Given the description of an element on the screen output the (x, y) to click on. 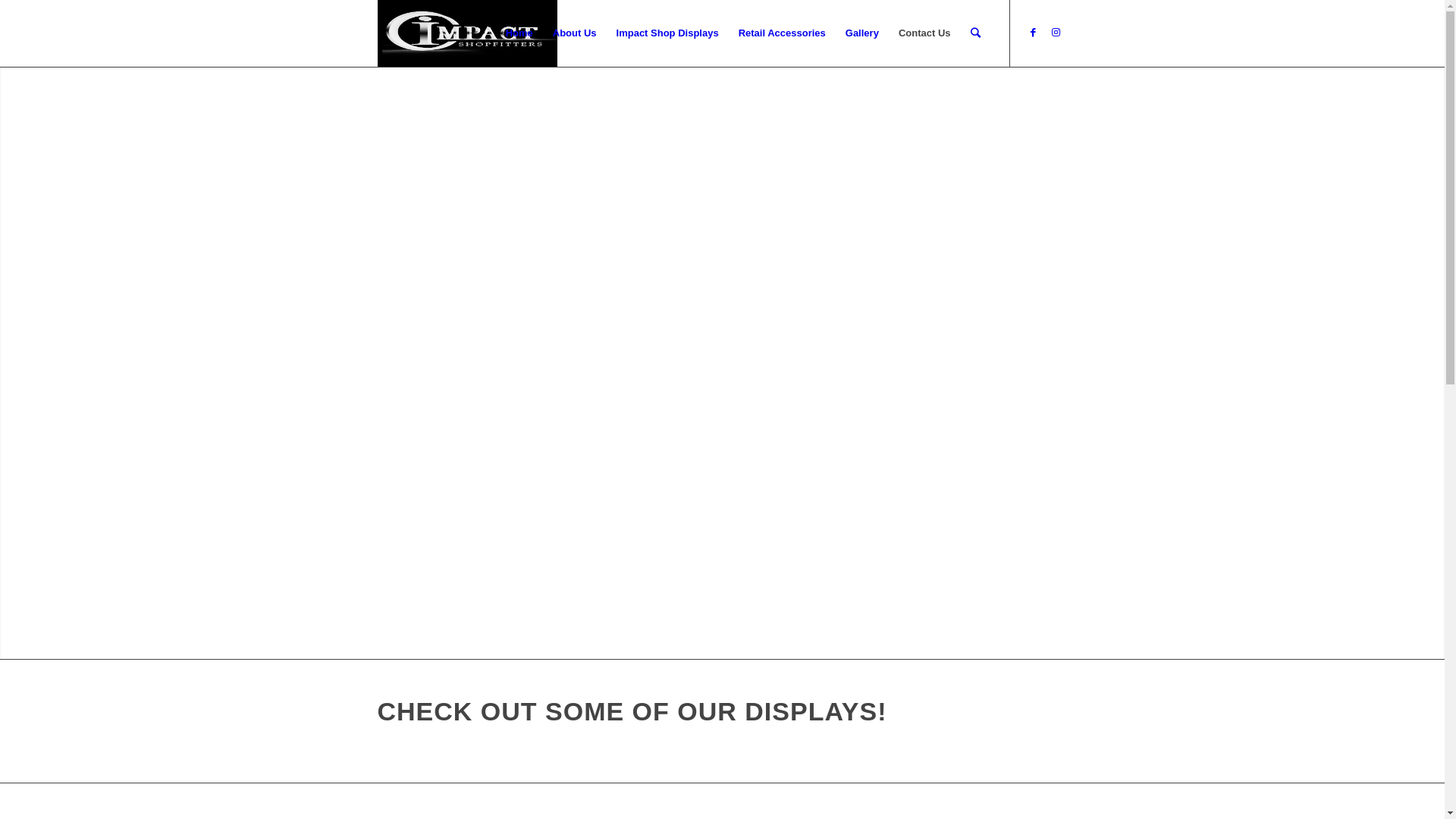
Facebook Element type: hover (1033, 32)
About Us Element type: text (574, 33)
Impact Shop Displays Element type: text (667, 33)
Contact Us Element type: text (924, 33)
Instagram Element type: hover (1055, 32)
Home Element type: text (518, 33)
Gallery Element type: text (861, 33)
Retail Accessories Element type: text (781, 33)
